Given the description of an element on the screen output the (x, y) to click on. 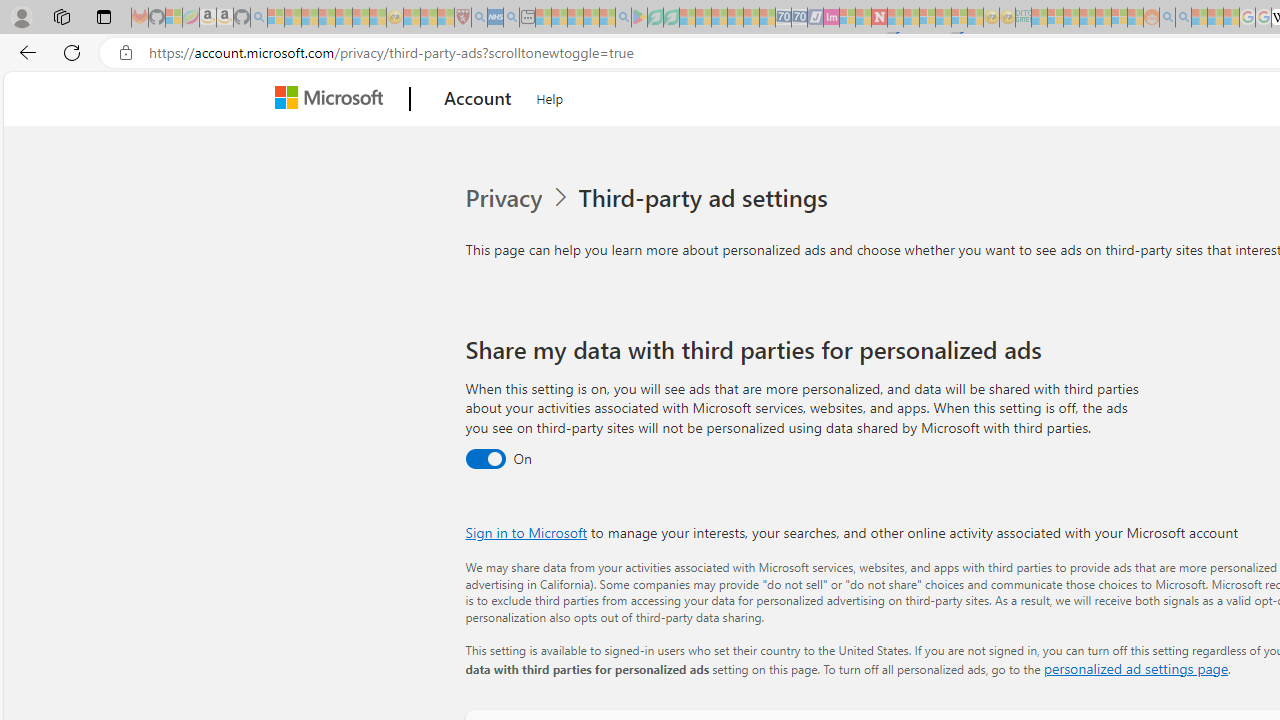
Account (477, 99)
Third-party ad settings (706, 197)
